Given the description of an element on the screen output the (x, y) to click on. 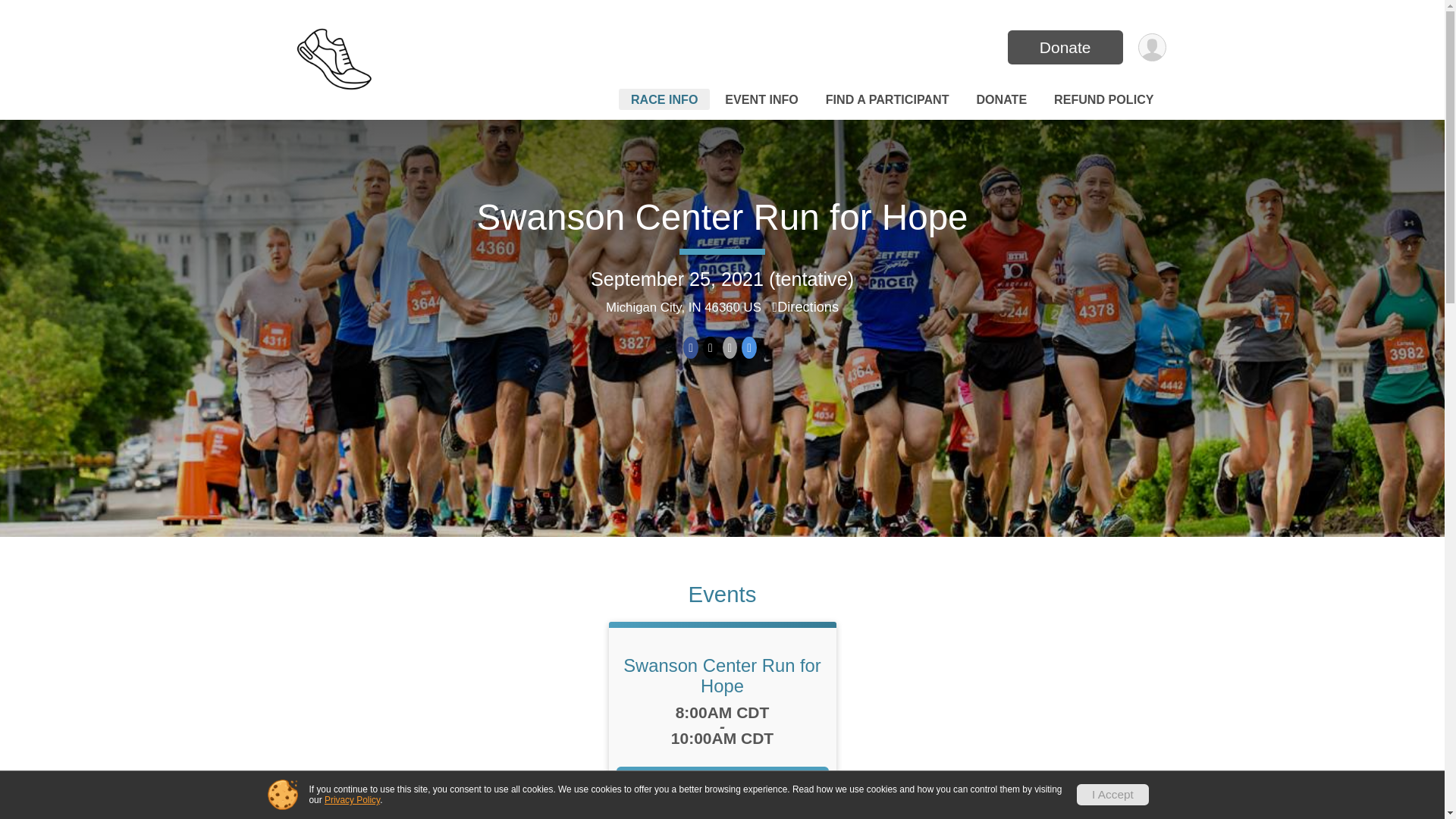
FIND A PARTICIPANT (887, 98)
Donate (1064, 47)
Swanson Center Run for Hope (722, 675)
EVENT INFO (761, 98)
Directions (806, 306)
Sign Up (721, 783)
DONATE (1000, 98)
RACE INFO (664, 98)
Swanson Center Run for Hope (722, 217)
REFUND POLICY (1103, 98)
